Given the description of an element on the screen output the (x, y) to click on. 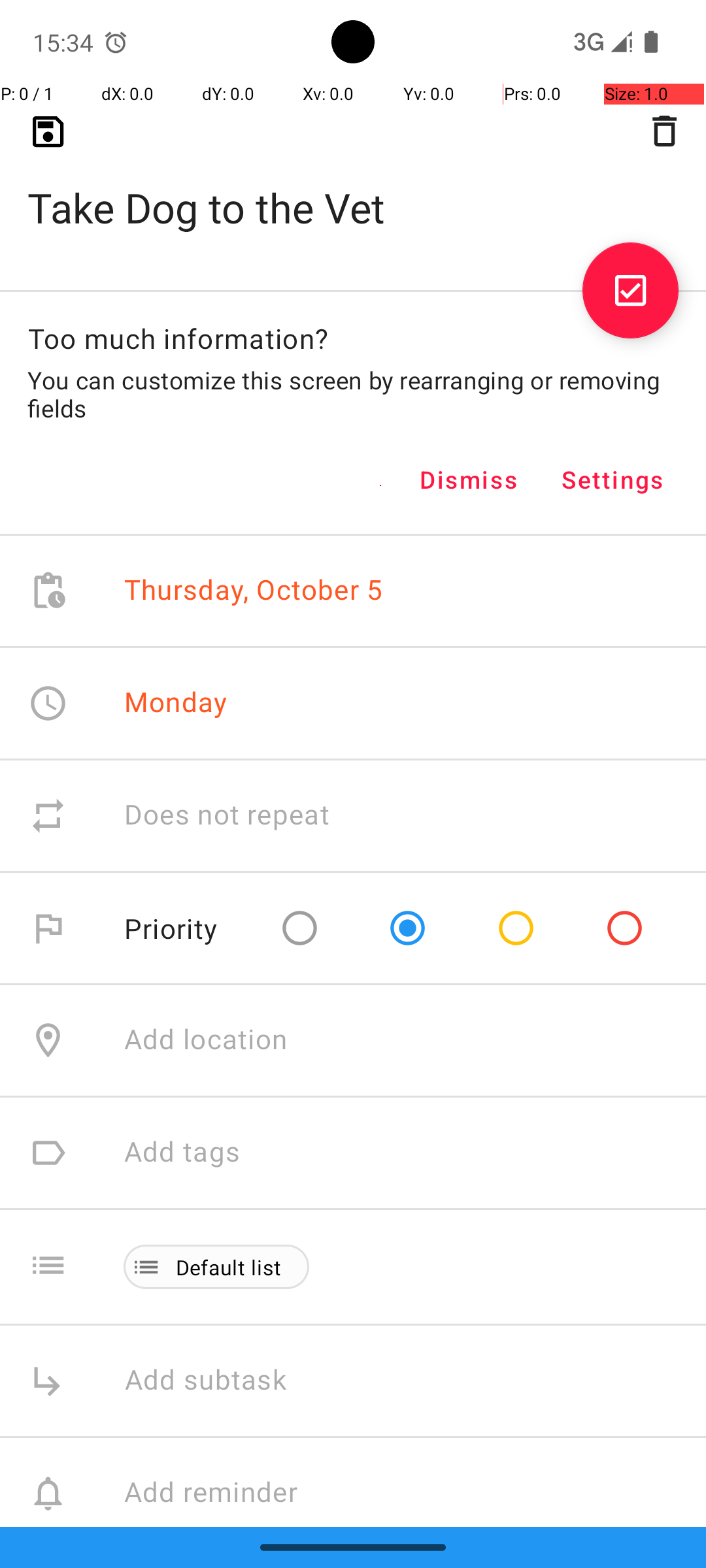
Thursday, October 5 Element type: android.widget.TextView (253, 590)
